Given the description of an element on the screen output the (x, y) to click on. 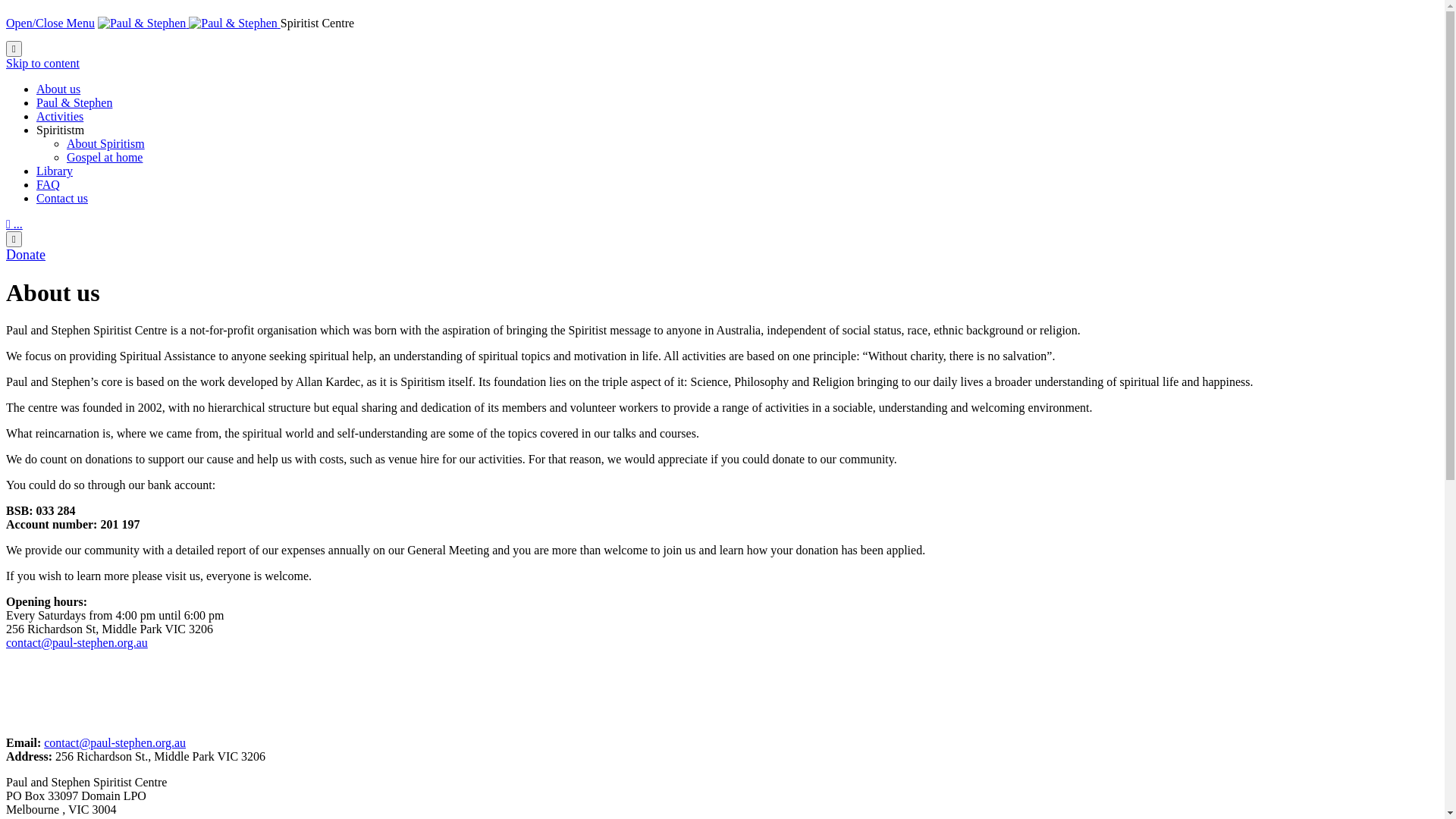
Open/Close Menu Element type: text (50, 22)
Contact us Element type: text (61, 197)
Paul & Stephen Element type: text (74, 102)
FAQ Element type: text (47, 184)
Skip to content Element type: text (42, 62)
Library Element type: text (54, 170)
Paul & Stephen Element type: hover (188, 22)
Donate Element type: text (25, 254)
Activities Element type: text (59, 115)
contact@paul-stephen.org.au Element type: text (114, 742)
Spiritistm Element type: text (60, 129)
About Spiritism Element type: text (105, 143)
contact@paul-stephen.org.au Element type: text (76, 642)
Gospel at home Element type: text (104, 156)
About us Element type: text (58, 88)
